Given the description of an element on the screen output the (x, y) to click on. 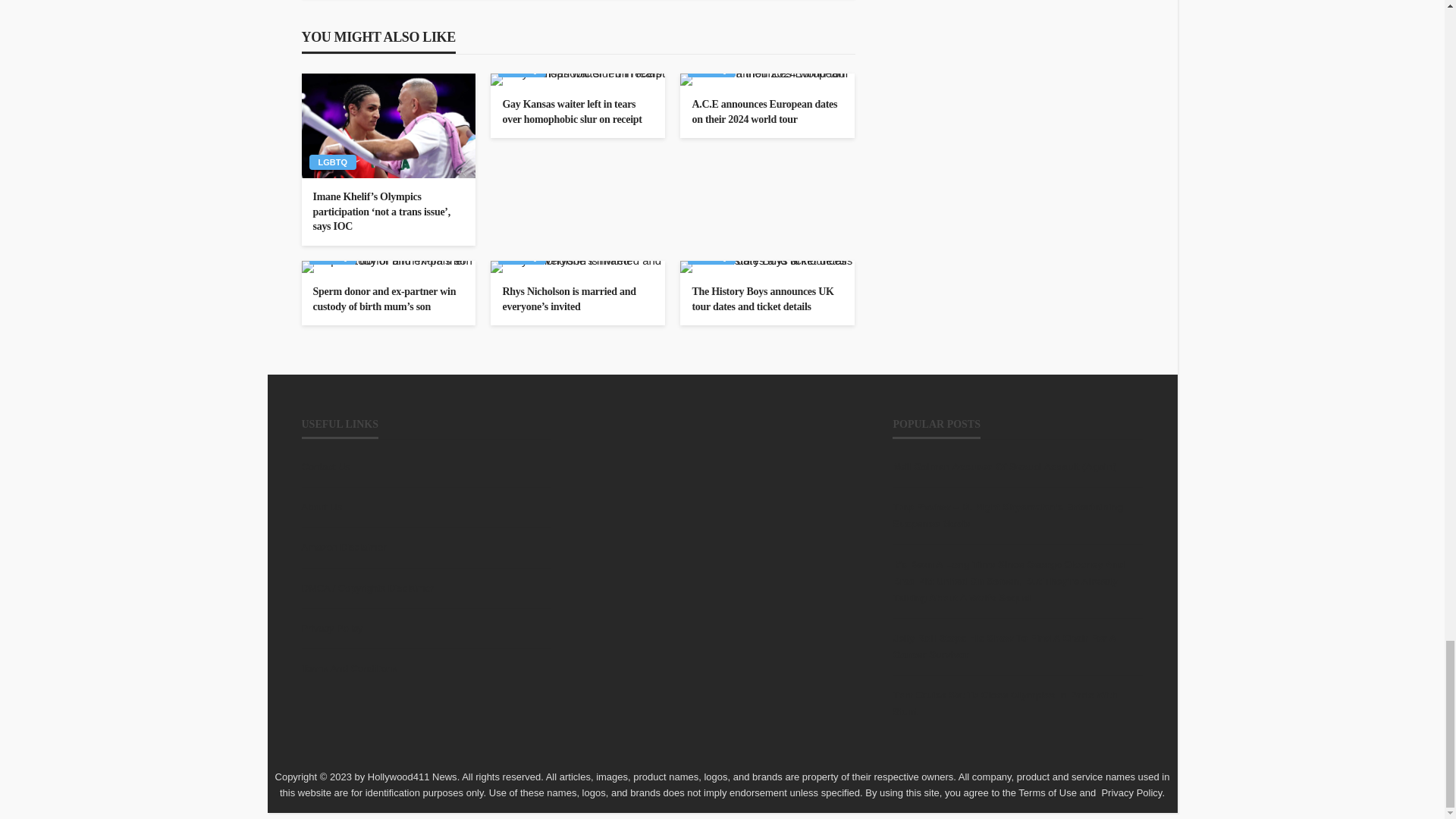
LGBTQ (332, 161)
